Given the description of an element on the screen output the (x, y) to click on. 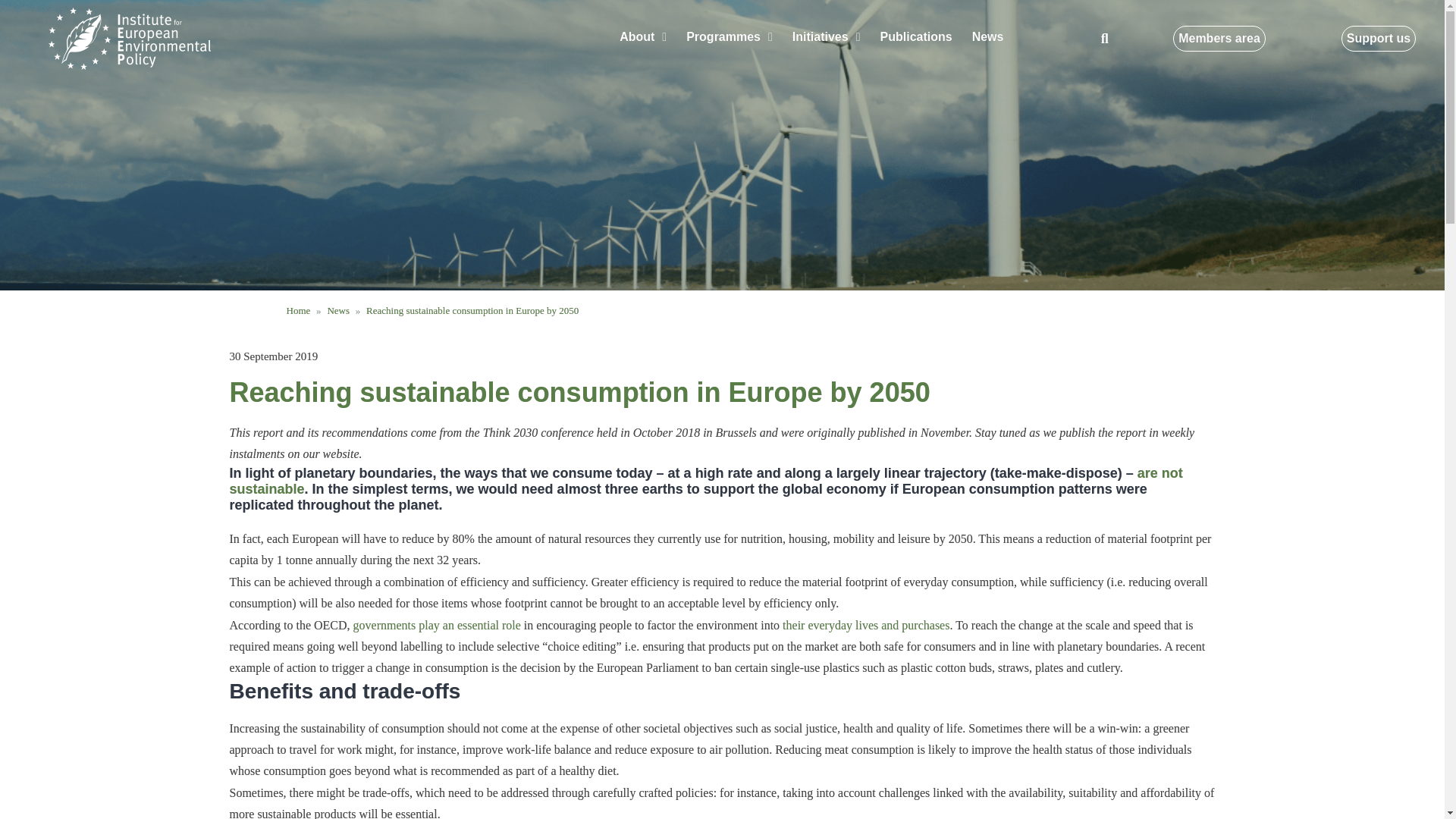
Publications (916, 36)
Initiatives (826, 36)
News (987, 36)
About (643, 36)
Programmes (730, 36)
